Given the description of an element on the screen output the (x, y) to click on. 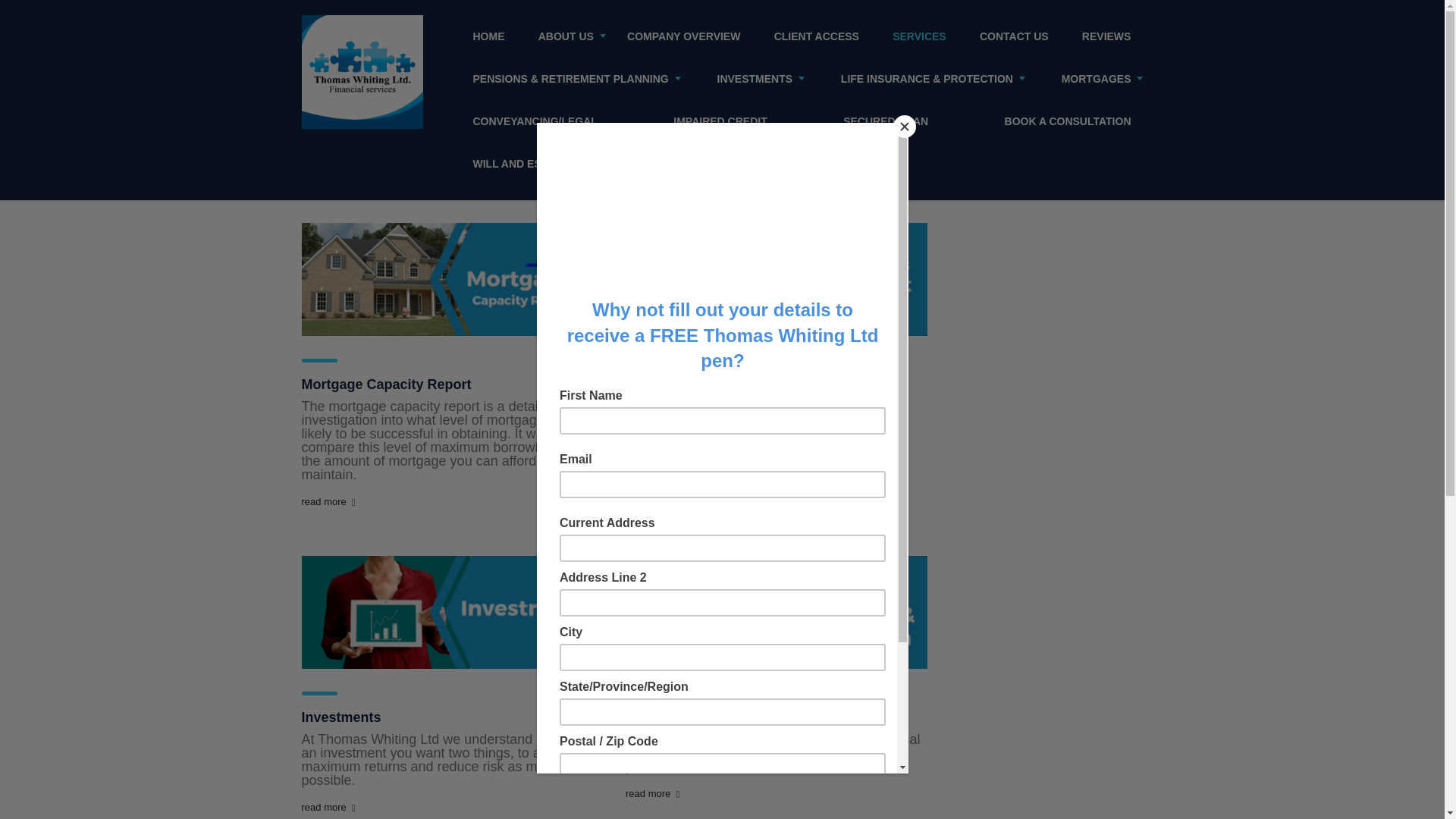
SERVICES (919, 36)
SECURED LOAN (885, 120)
HOME (488, 36)
CONTACT US (1014, 36)
INVESTMENTS (754, 78)
MORTGAGES (1095, 78)
IMPAIRED CREDIT (719, 120)
COMPANY OVERVIEW (683, 36)
pensions header (776, 278)
CLIENT ACCESS (815, 36)
investments header (452, 612)
life insutrance header (776, 612)
REVIEWS (1106, 36)
Mortgage capacity reports (452, 278)
ABOUT US (565, 36)
